Given the description of an element on the screen output the (x, y) to click on. 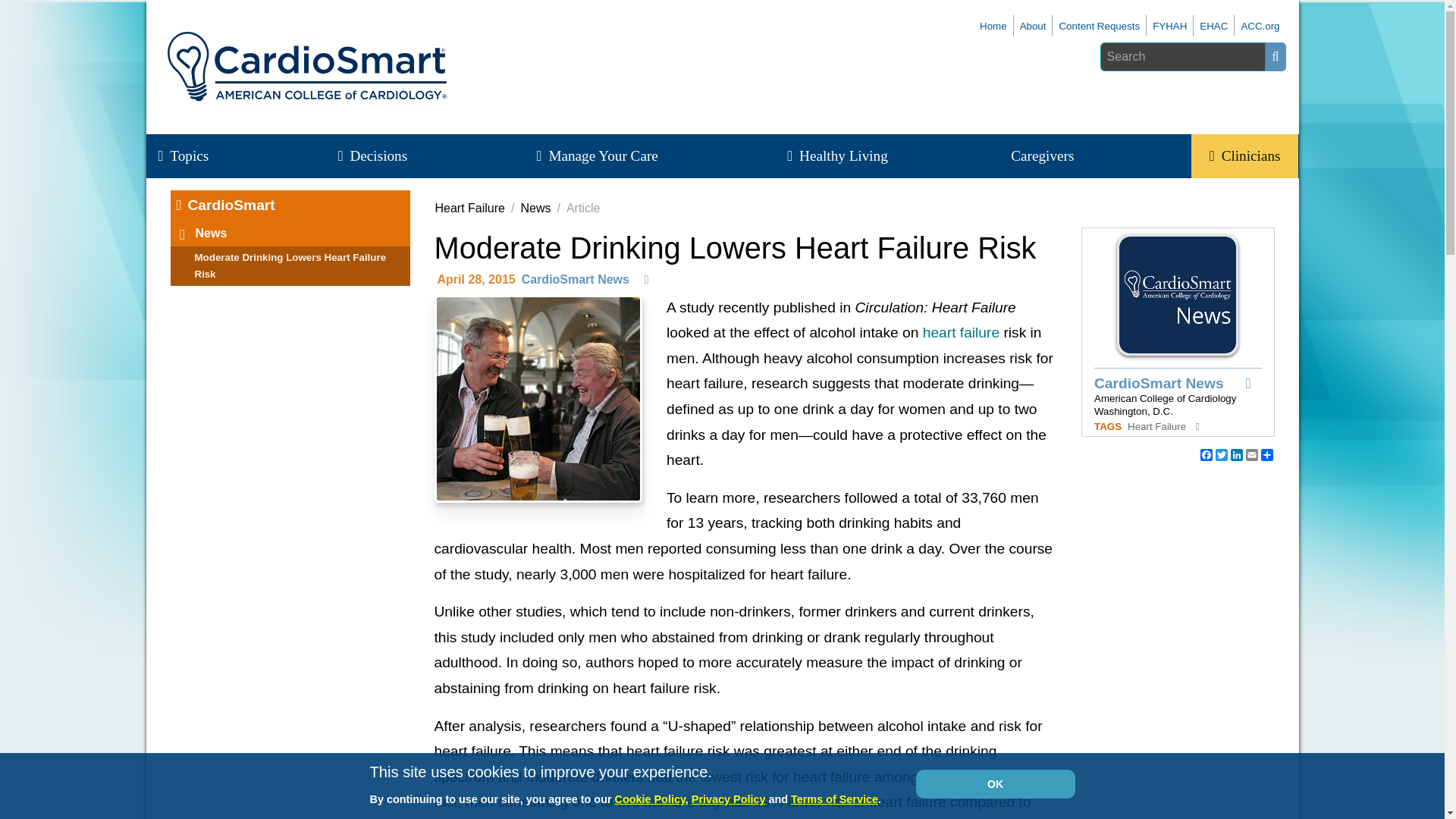
About CardioSmart (1033, 25)
EHAC (1213, 25)
Topics (192, 156)
About CardioSmart (1099, 25)
Early Heart Attack Care (1213, 25)
FYHAH (1169, 25)
American College of Cardiology (1259, 25)
CardioSmart (993, 25)
ACC.org (1259, 25)
Home (993, 25)
Content Requests (1099, 25)
About (1033, 25)
